Given the description of an element on the screen output the (x, y) to click on. 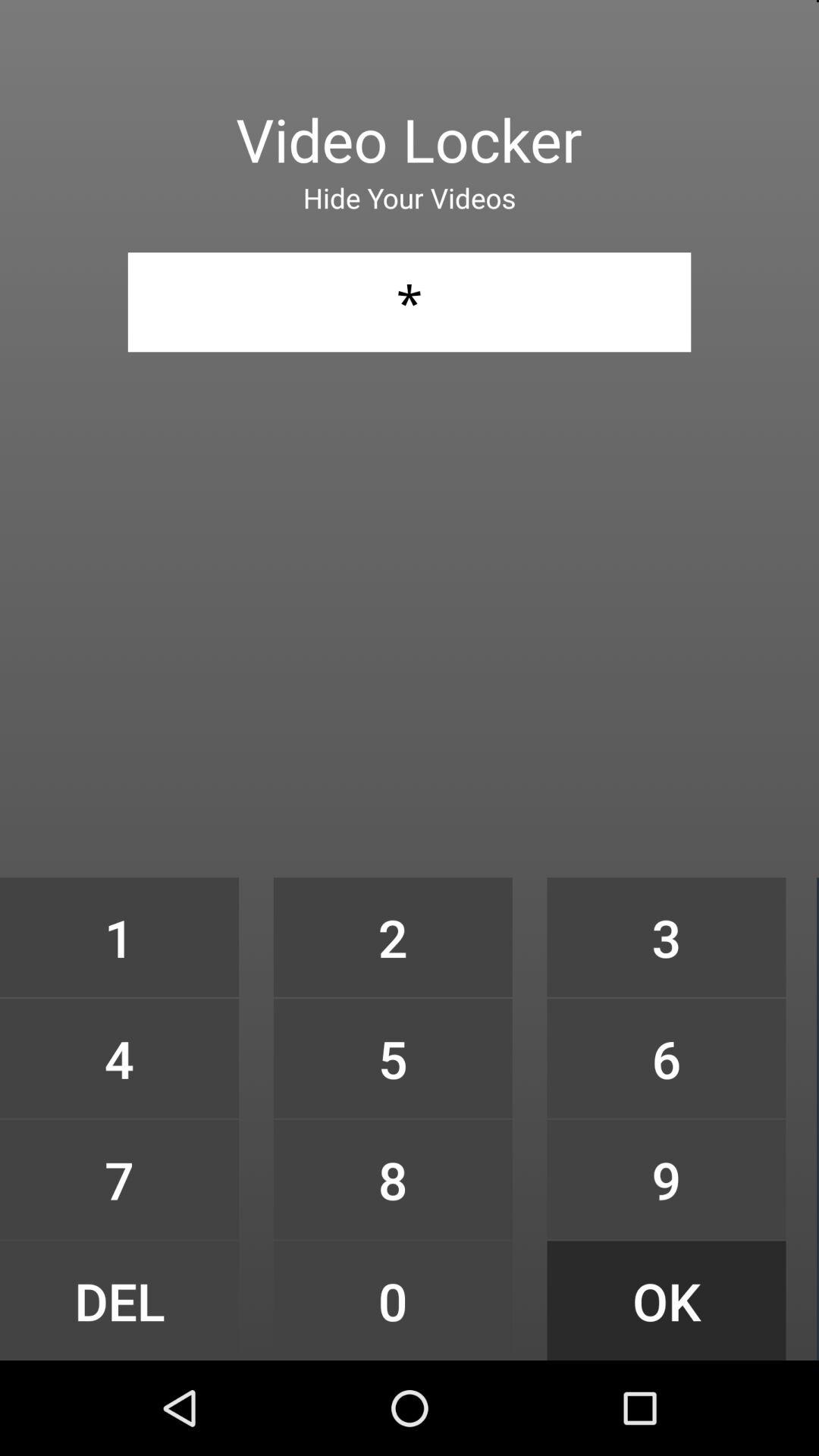
turn on the icon below 31 (392, 937)
